Given the description of an element on the screen output the (x, y) to click on. 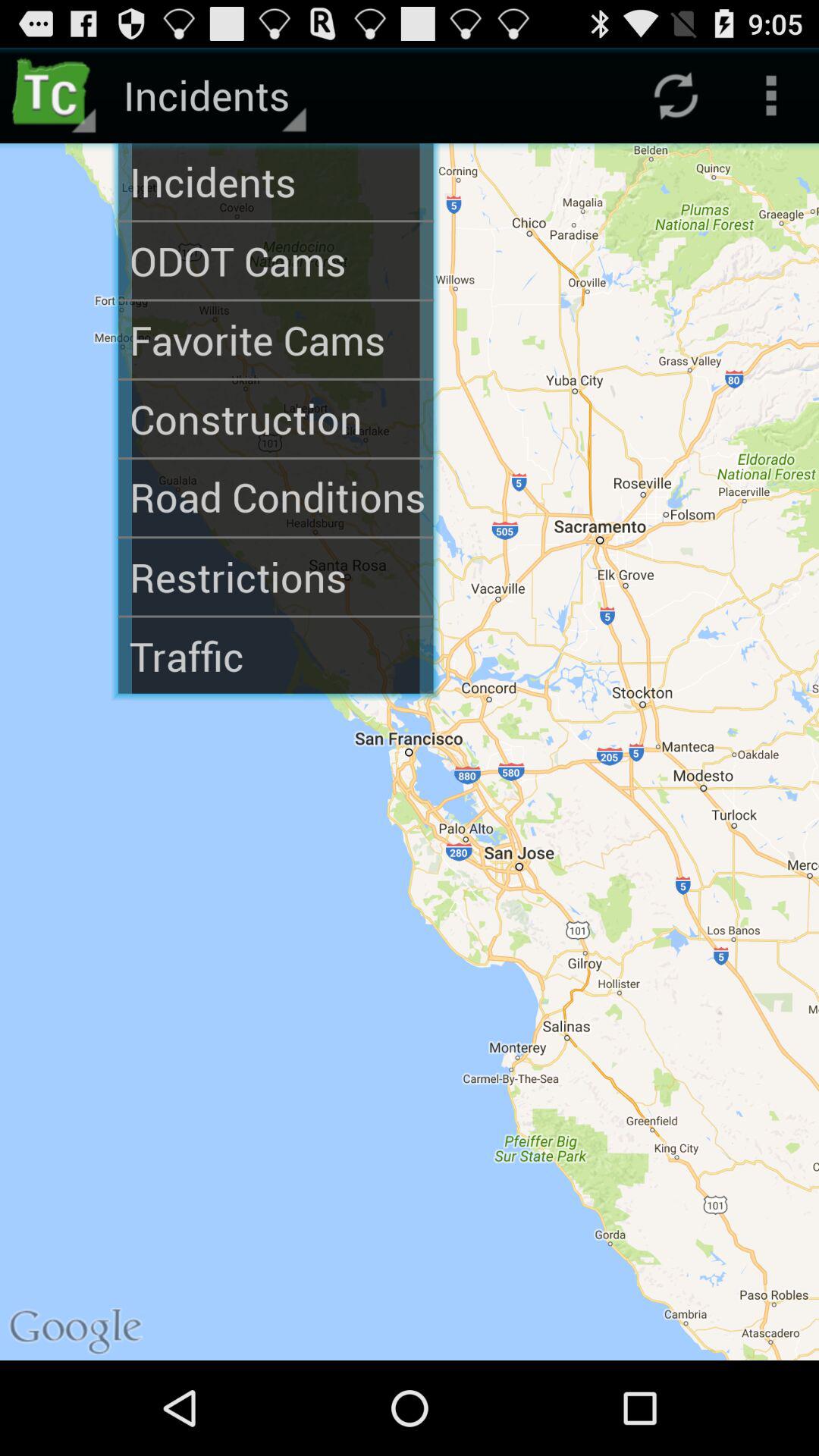
flip until the odot cams (275, 260)
